Given the description of an element on the screen output the (x, y) to click on. 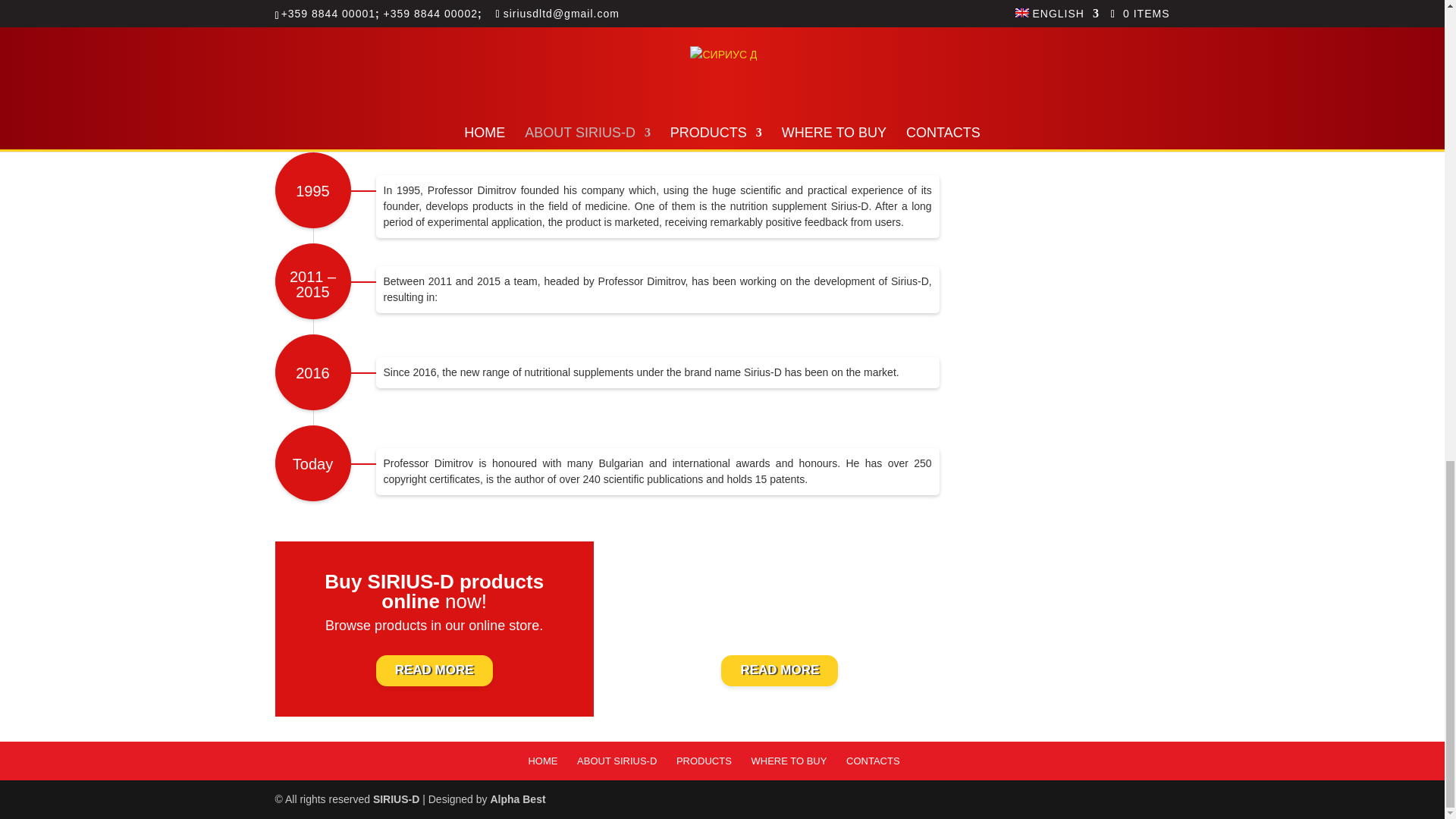
READ MORE (434, 670)
READ MORE (779, 670)
HOME (542, 760)
CONTACTS (872, 760)
SIRIUS-D (395, 799)
WHERE TO BUY (789, 760)
ABOUT SIRIUS-D (616, 760)
SIRIUS-D (395, 799)
Alpha Best (516, 799)
PRODUCTS (704, 760)
